Given the description of an element on the screen output the (x, y) to click on. 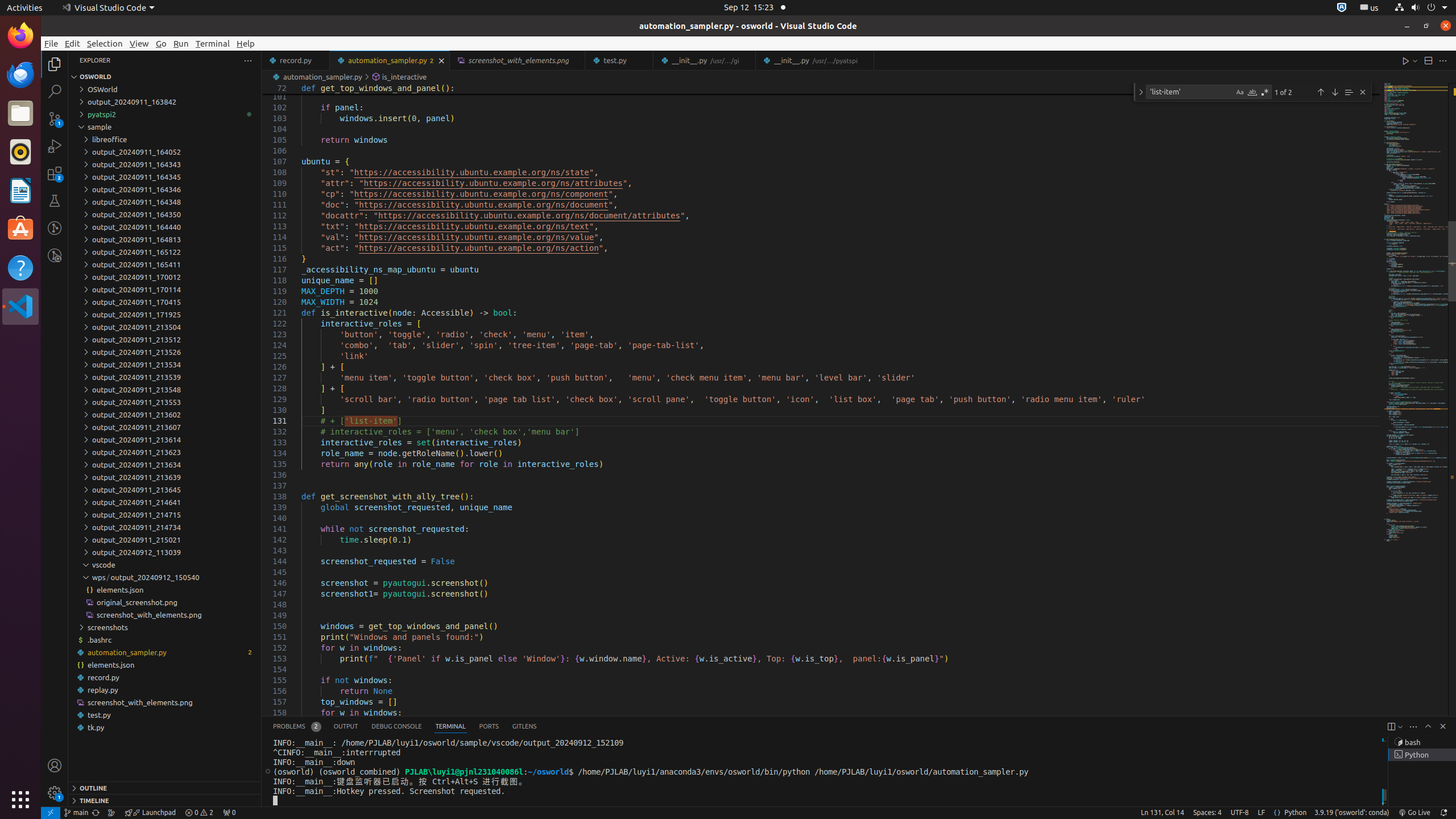
elements.json Element type: tree-item (164, 664)
wps Element type: tree-item (101, 577)
output_20240911_164813 Element type: tree-item (164, 239)
.bashrc Element type: tree-item (164, 639)
